Given the description of an element on the screen output the (x, y) to click on. 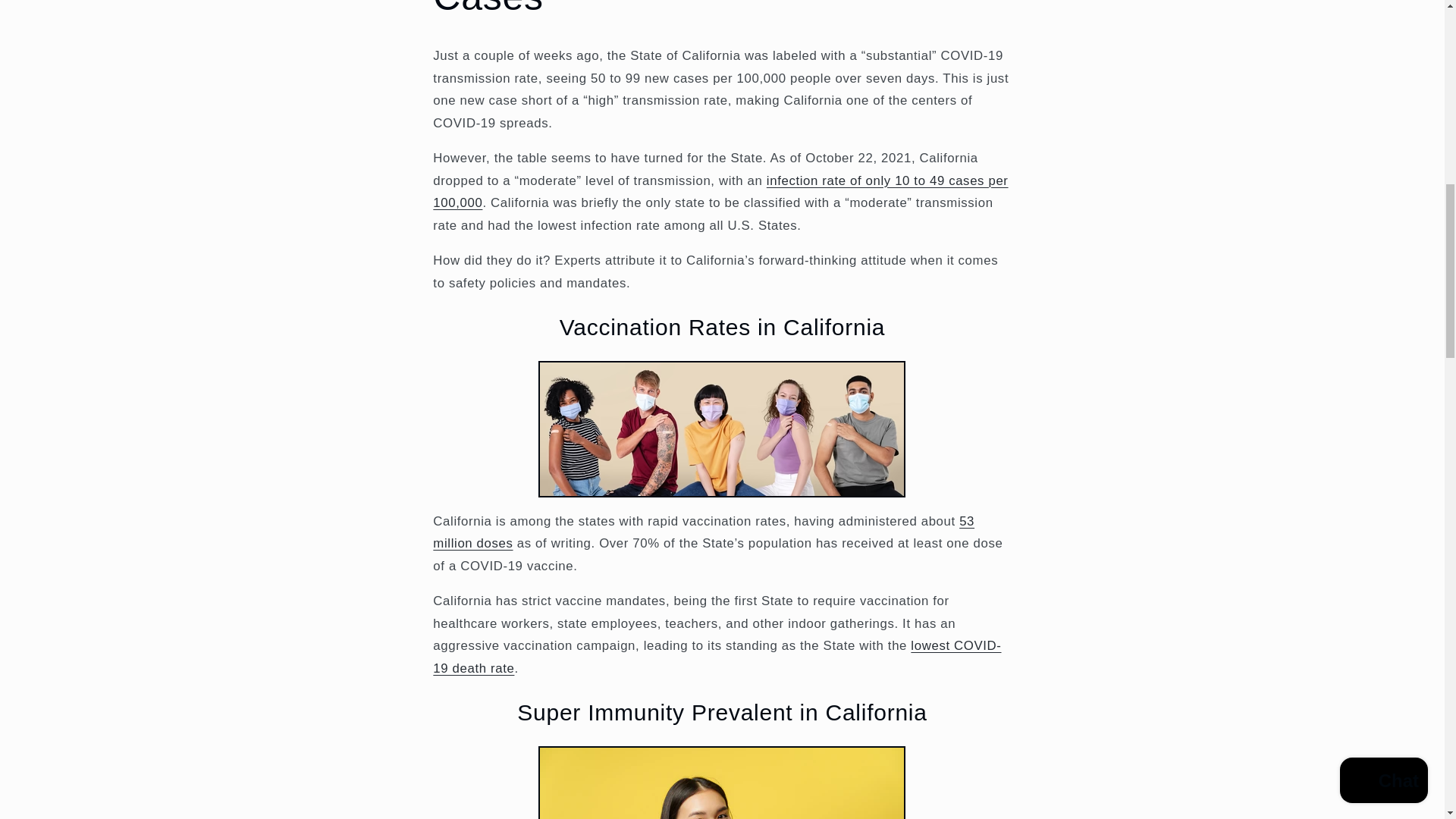
53 million doses (703, 532)
infection rate of only 10 to 49 cases per 100,000 (719, 191)
lowest COVID-19 death rate (716, 656)
